Given the description of an element on the screen output the (x, y) to click on. 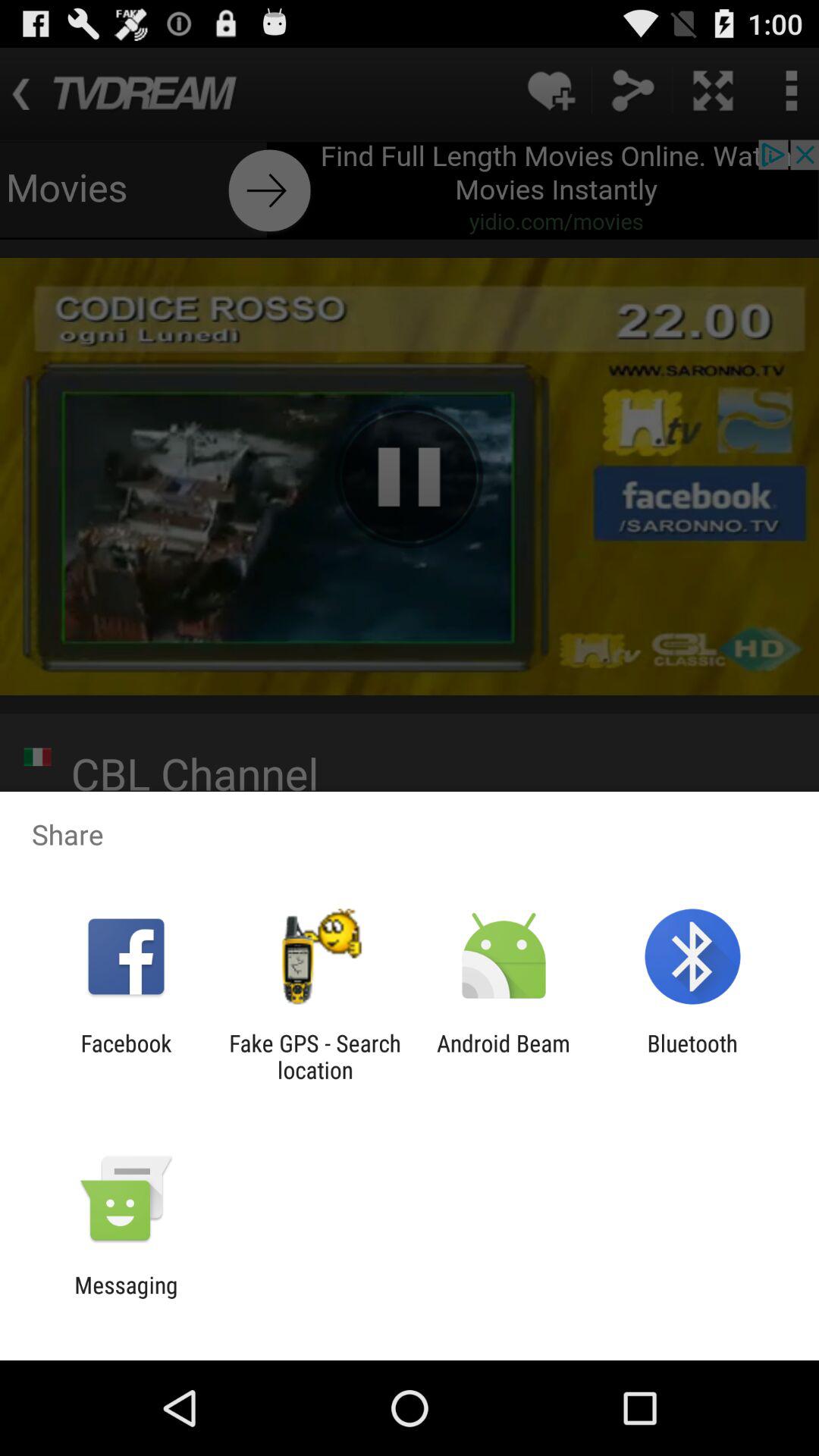
tap the app next to the bluetooth item (503, 1056)
